Given the description of an element on the screen output the (x, y) to click on. 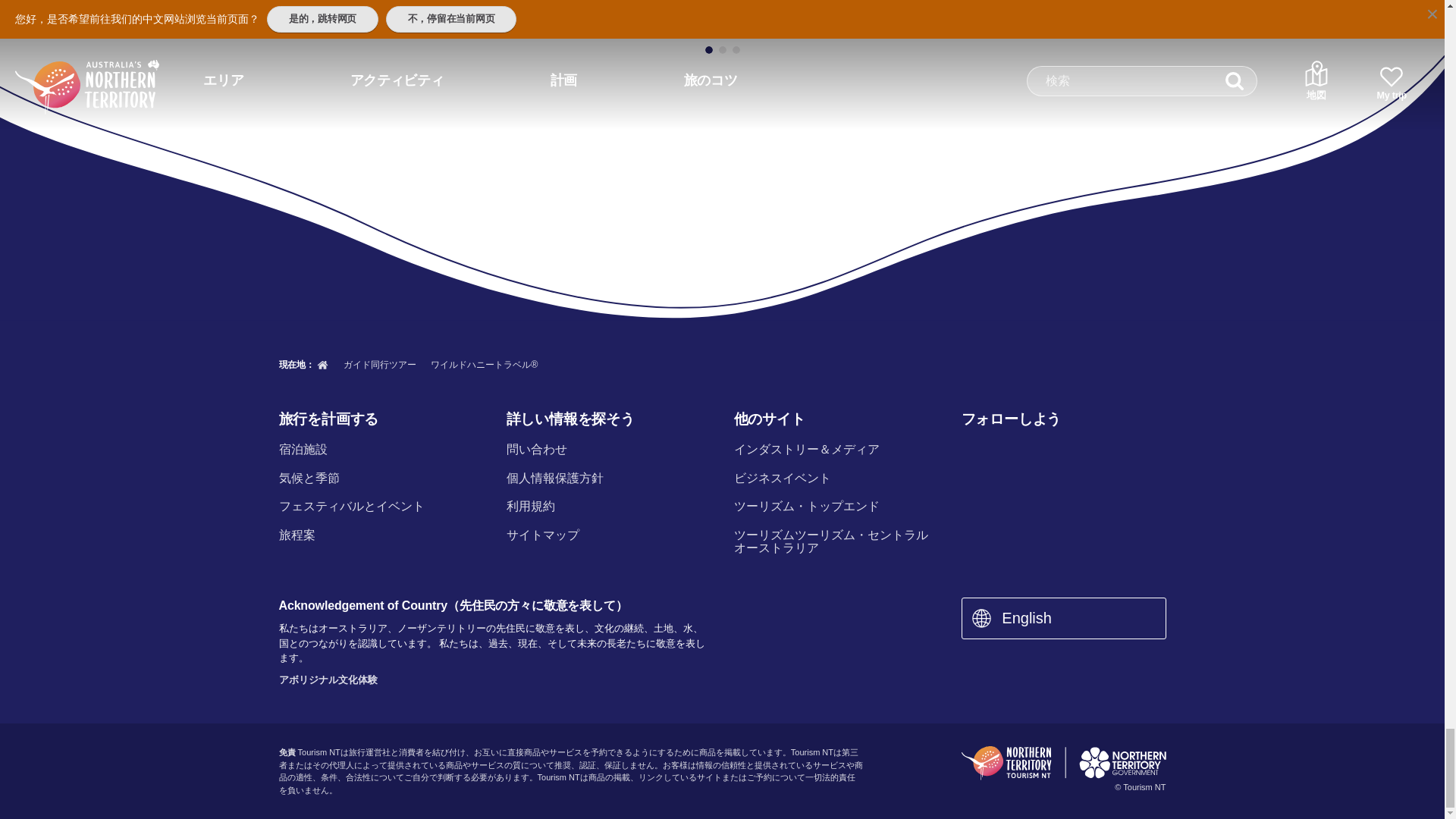
Facebook (970, 451)
Instagram (1009, 451)
